Given the description of an element on the screen output the (x, y) to click on. 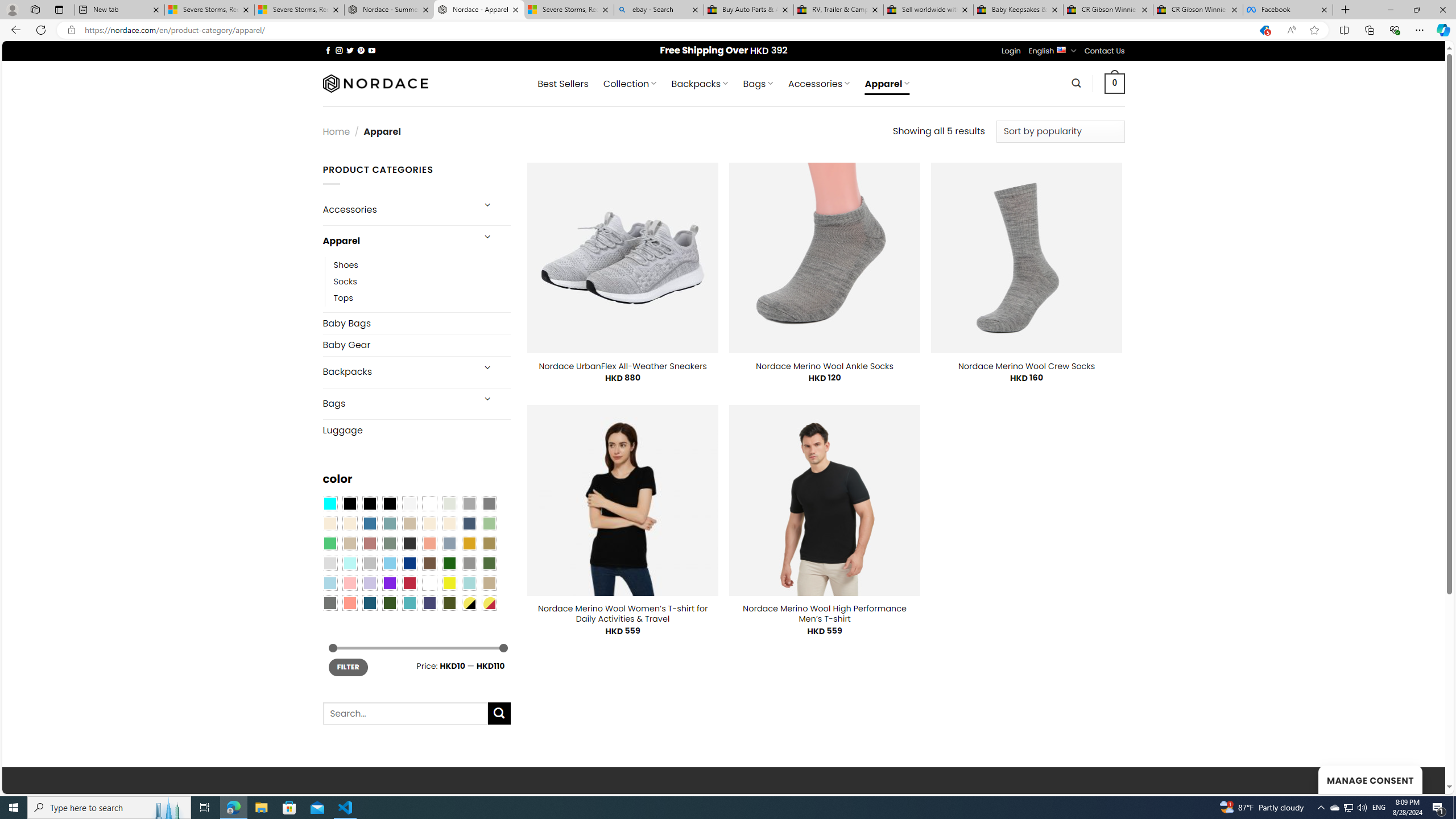
Forest (389, 602)
Tops (422, 297)
Tops (343, 297)
Nordace Merino Wool Ankle Socks (824, 365)
Go to top (1421, 777)
